Given the description of an element on the screen output the (x, y) to click on. 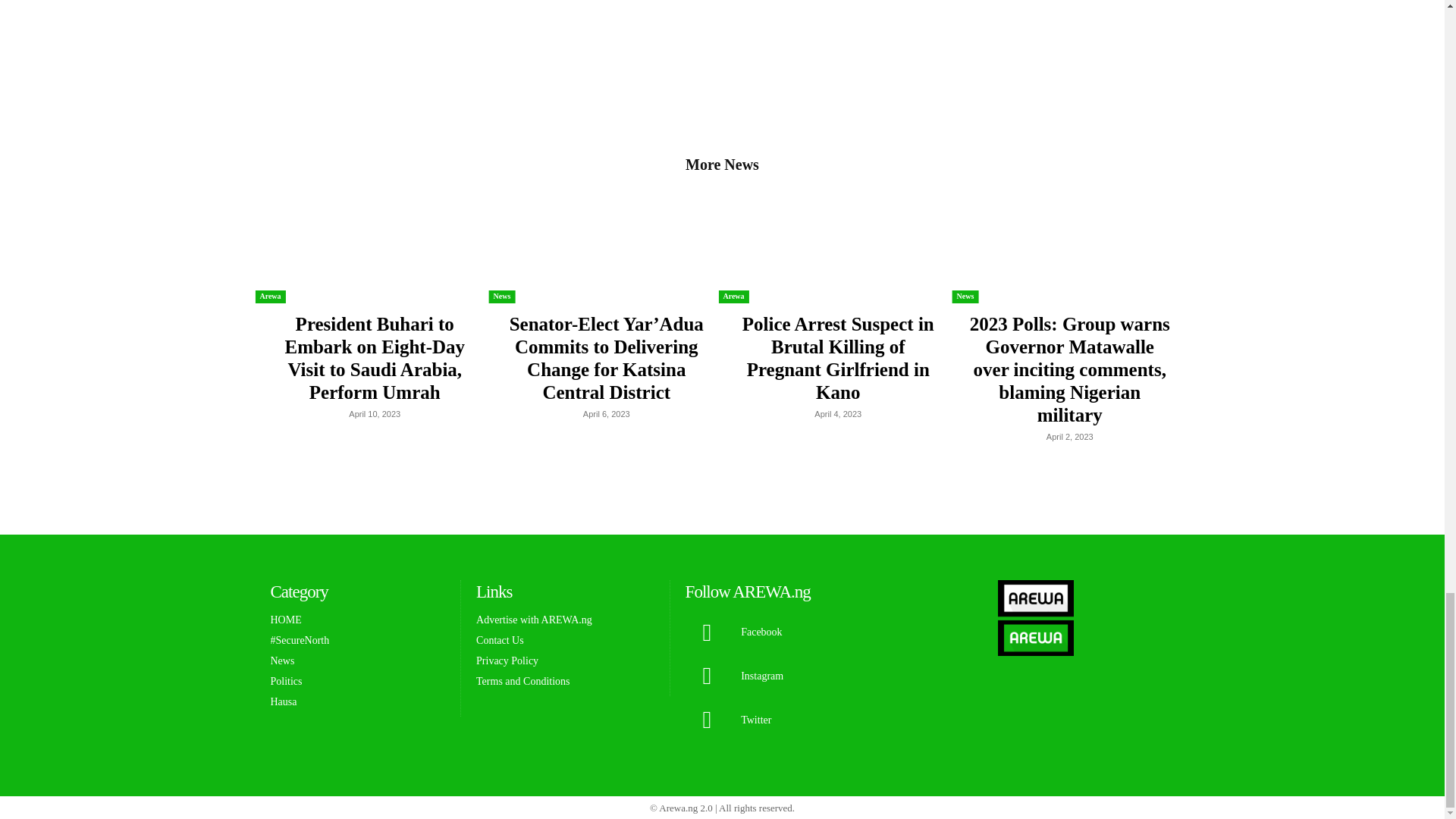
Arewa (269, 296)
Facebook (707, 632)
Instagram (707, 676)
News (502, 296)
